Given the description of an element on the screen output the (x, y) to click on. 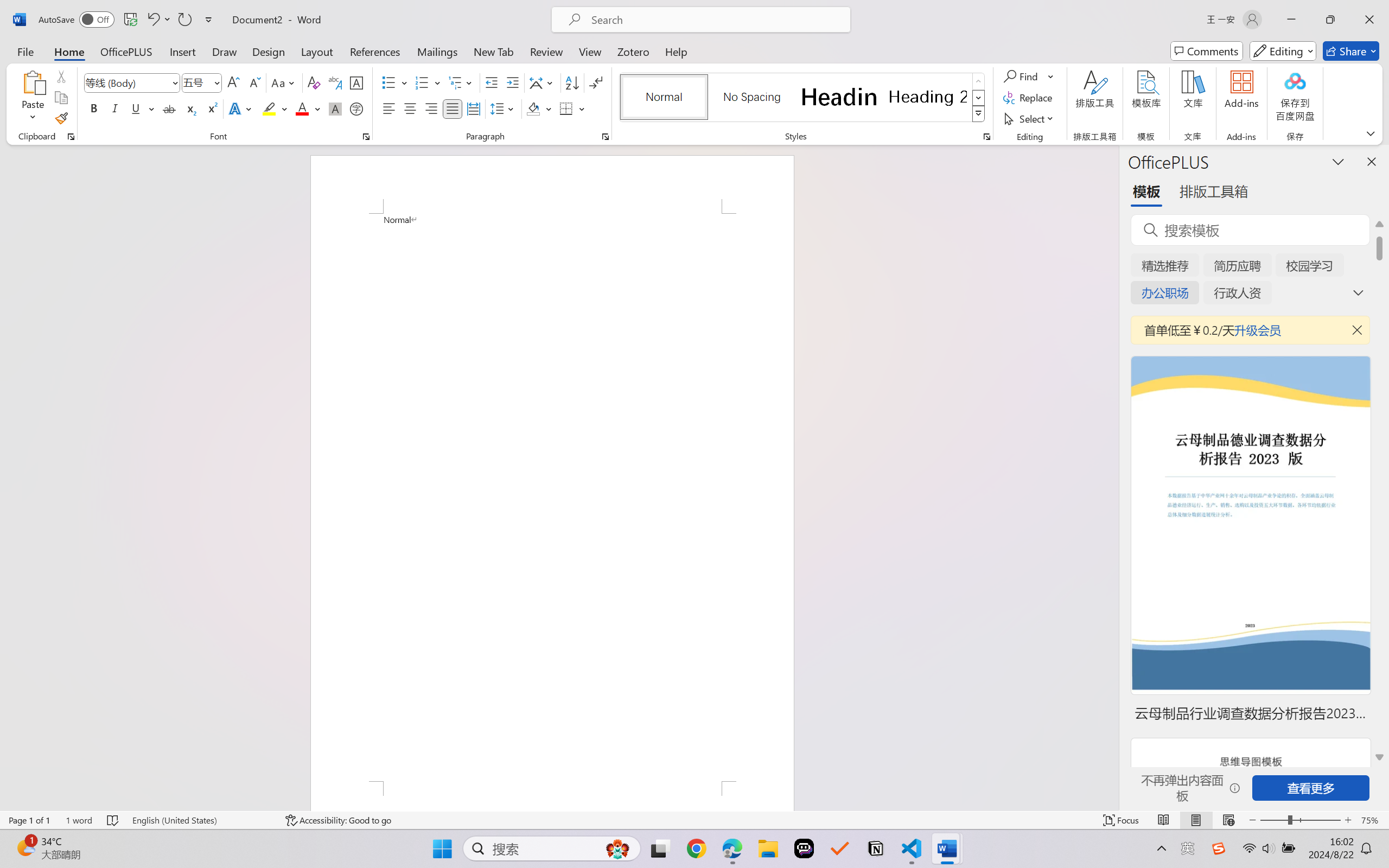
Zotero (632, 51)
Align Right (431, 108)
Numbering (428, 82)
Font Size (196, 82)
Borders (571, 108)
Office Clipboard... (70, 136)
Find (1022, 75)
Center (409, 108)
Replace... (1029, 97)
Zoom Out (1273, 819)
